Given the description of an element on the screen output the (x, y) to click on. 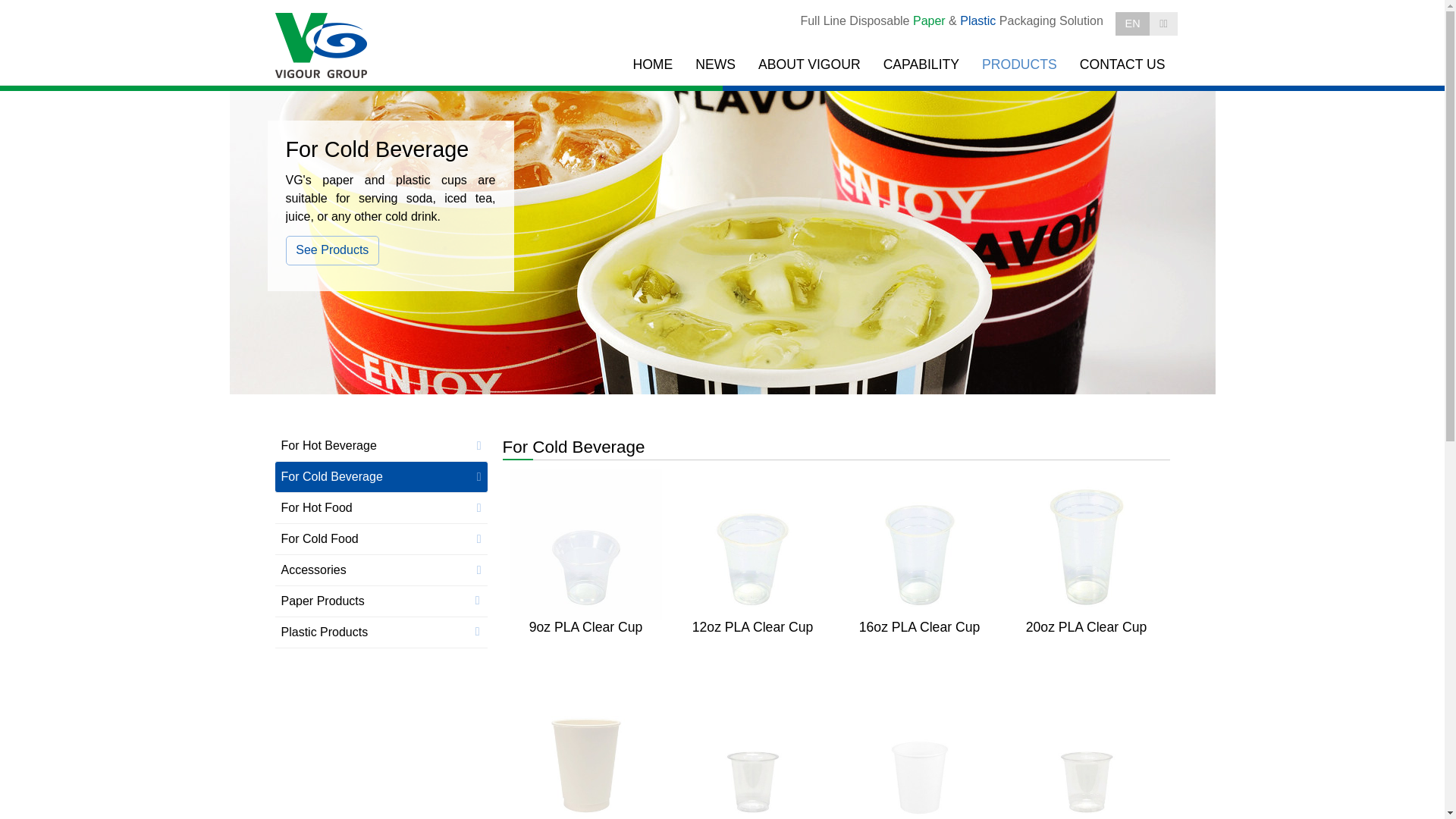
For Hot Beverage Element type: text (380, 445)
NEWS Element type: text (715, 64)
12oz PLA Clear Cup Element type: text (752, 600)
EN Element type: text (1132, 23)
Home Element type: hover (321, 46)
Paper Products Element type: text (380, 601)
PRODUCTS Element type: text (1019, 64)
9oz PLA Clear Cup Element type: text (585, 600)
For Hot Food Element type: text (380, 507)
Plastic Products Element type: text (380, 632)
20oz PLA Clear Cup Element type: text (1085, 600)
HOME Element type: text (652, 64)
16oz PLA Clear Cup Element type: text (918, 600)
For Cold Beverage Element type: text (380, 476)
CONTACT US Element type: text (1122, 64)
For Cold Food Element type: text (380, 539)
ABOUT VIGOUR Element type: text (809, 64)
Accessories Element type: text (380, 570)
See Products Element type: text (332, 250)
CAPABILITY Element type: text (921, 64)
